Given the description of an element on the screen output the (x, y) to click on. 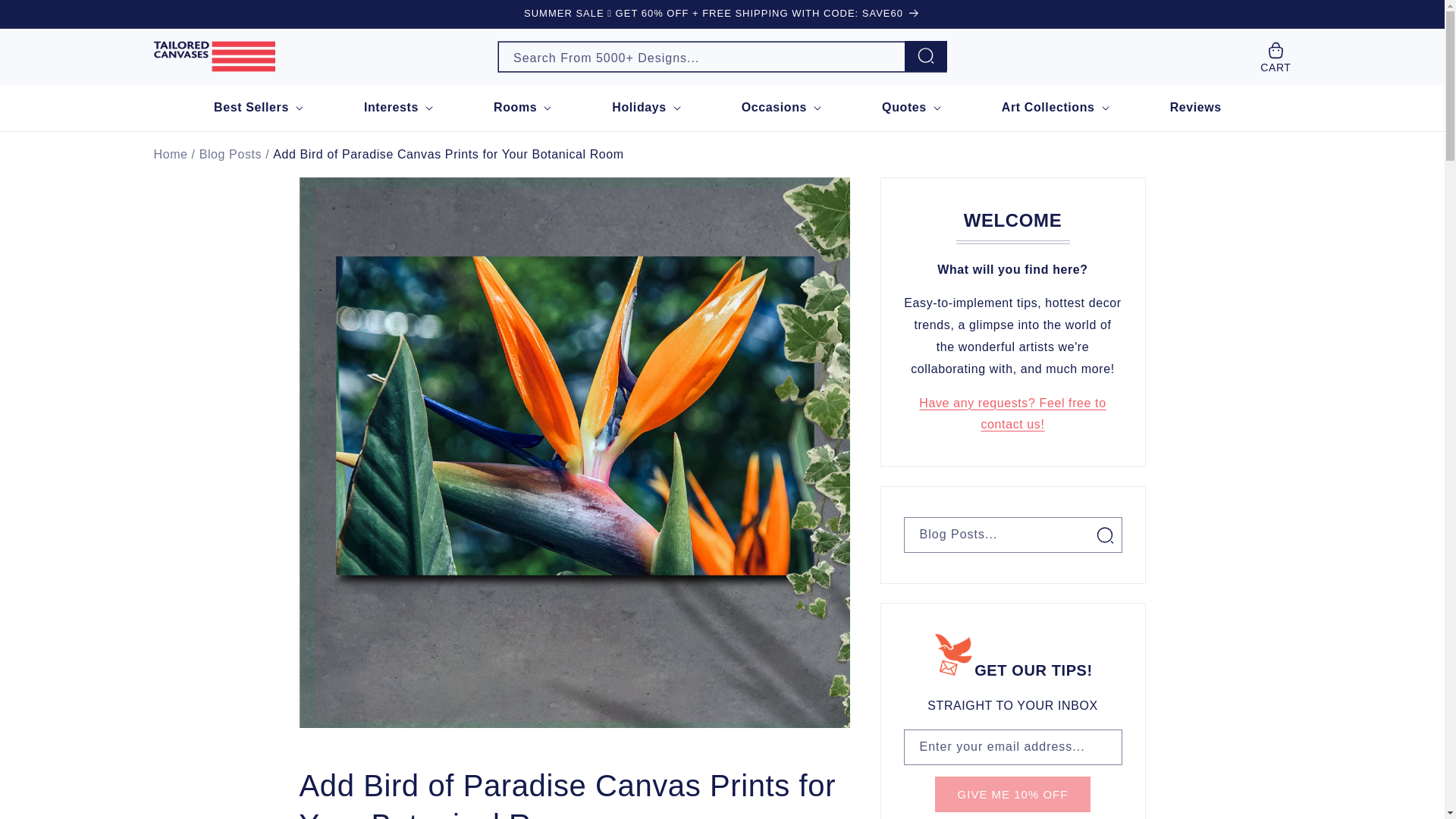
Contact Us (1011, 413)
canvas wall art (169, 154)
Skip to content (45, 17)
